Given the description of an element on the screen output the (x, y) to click on. 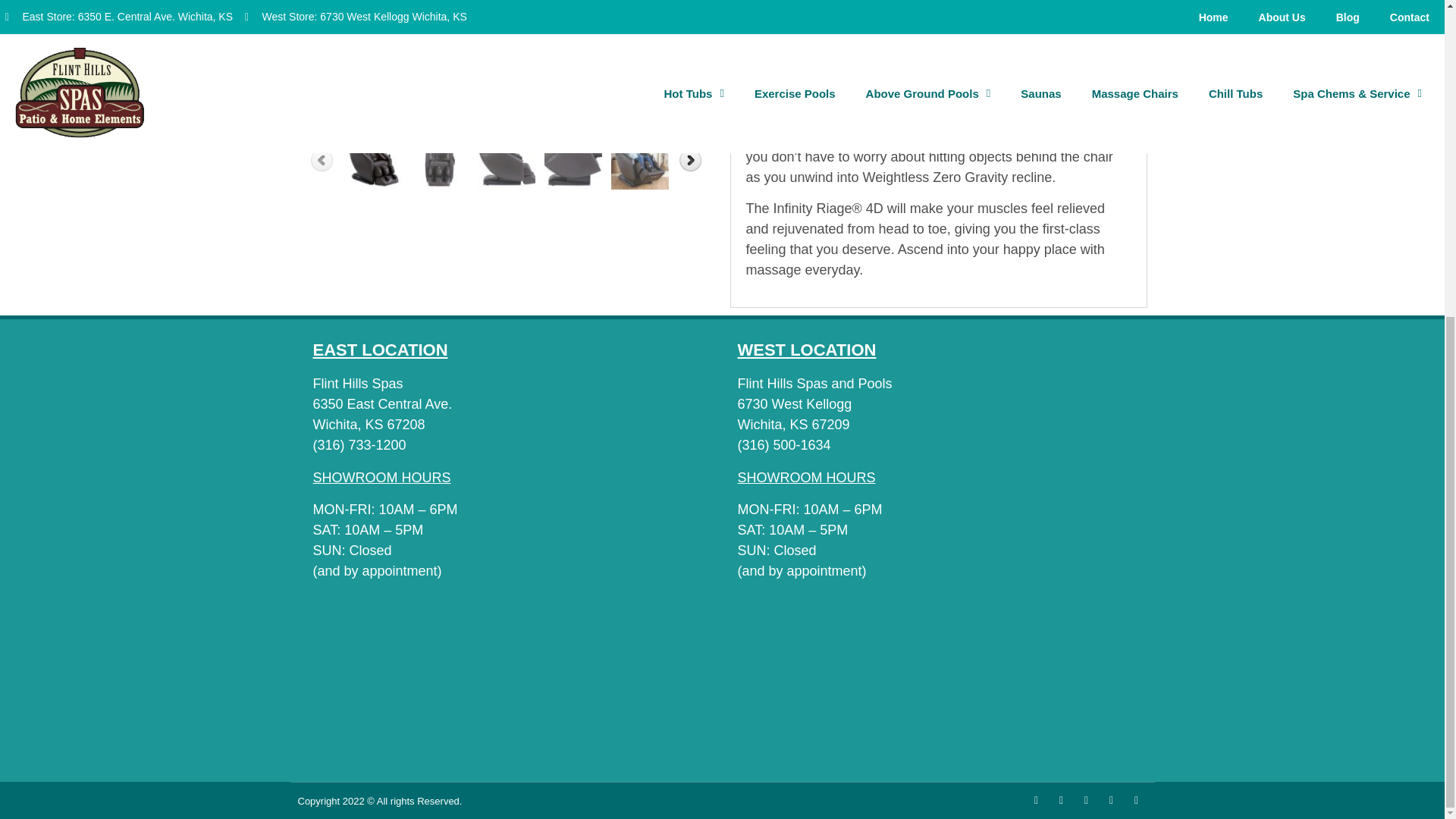
Click here for a map (358, 383)
Click here for a map (813, 383)
6350 East Central Ave. Wichita, KS 67208 (509, 683)
6730 West Kellogg Wichita, KS 67209 (933, 683)
